Given the description of an element on the screen output the (x, y) to click on. 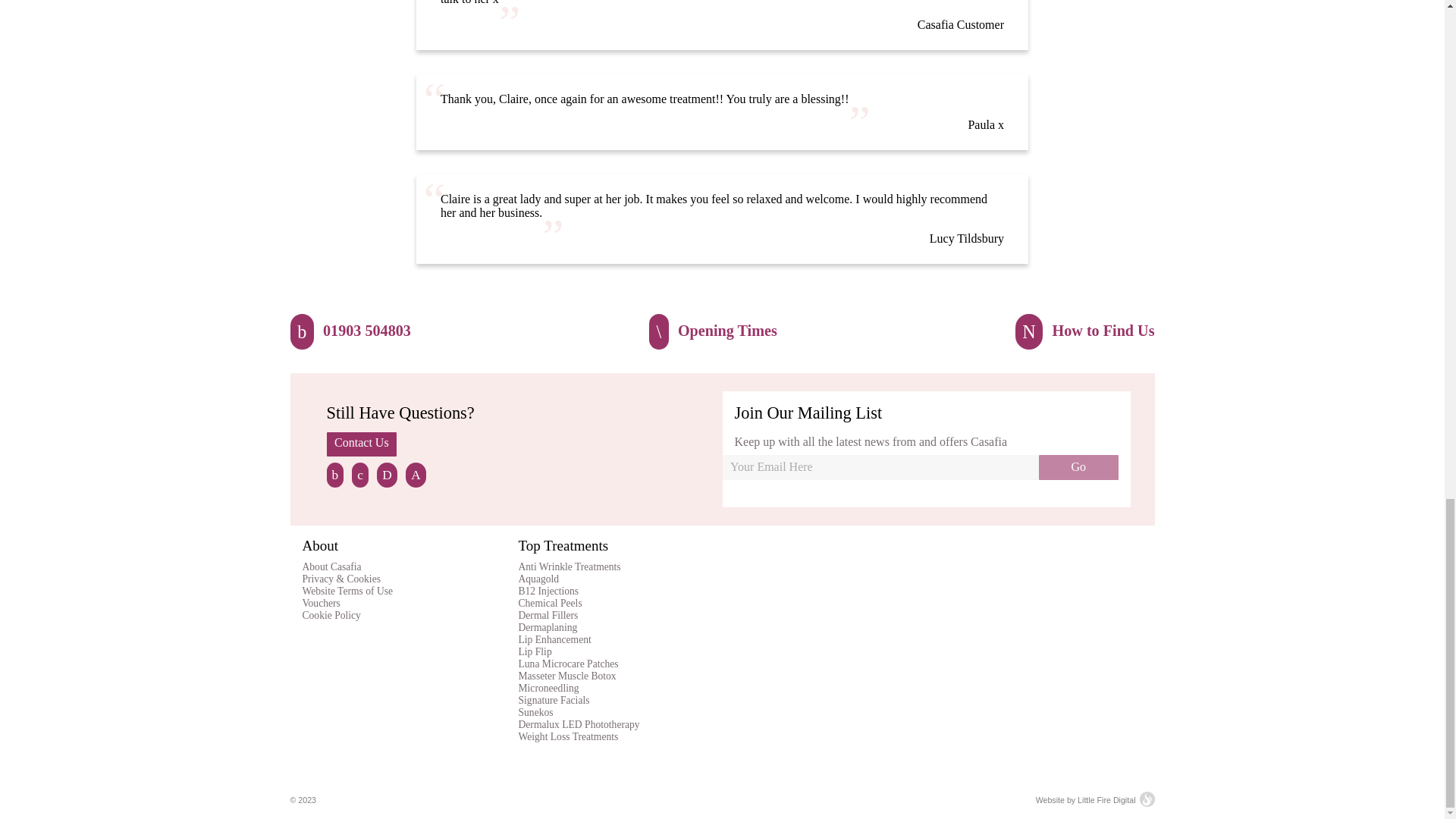
Dermal Fillers (548, 614)
About Casafia (331, 566)
Anti Wrinkle Treatments (569, 566)
B12 Injections (548, 591)
Lip Enhancement (554, 639)
B12 Injections (548, 591)
Aquagold (538, 578)
Chemical Peels (550, 603)
Dermal Fillers (548, 614)
Opening Times (713, 330)
